Given the description of an element on the screen output the (x, y) to click on. 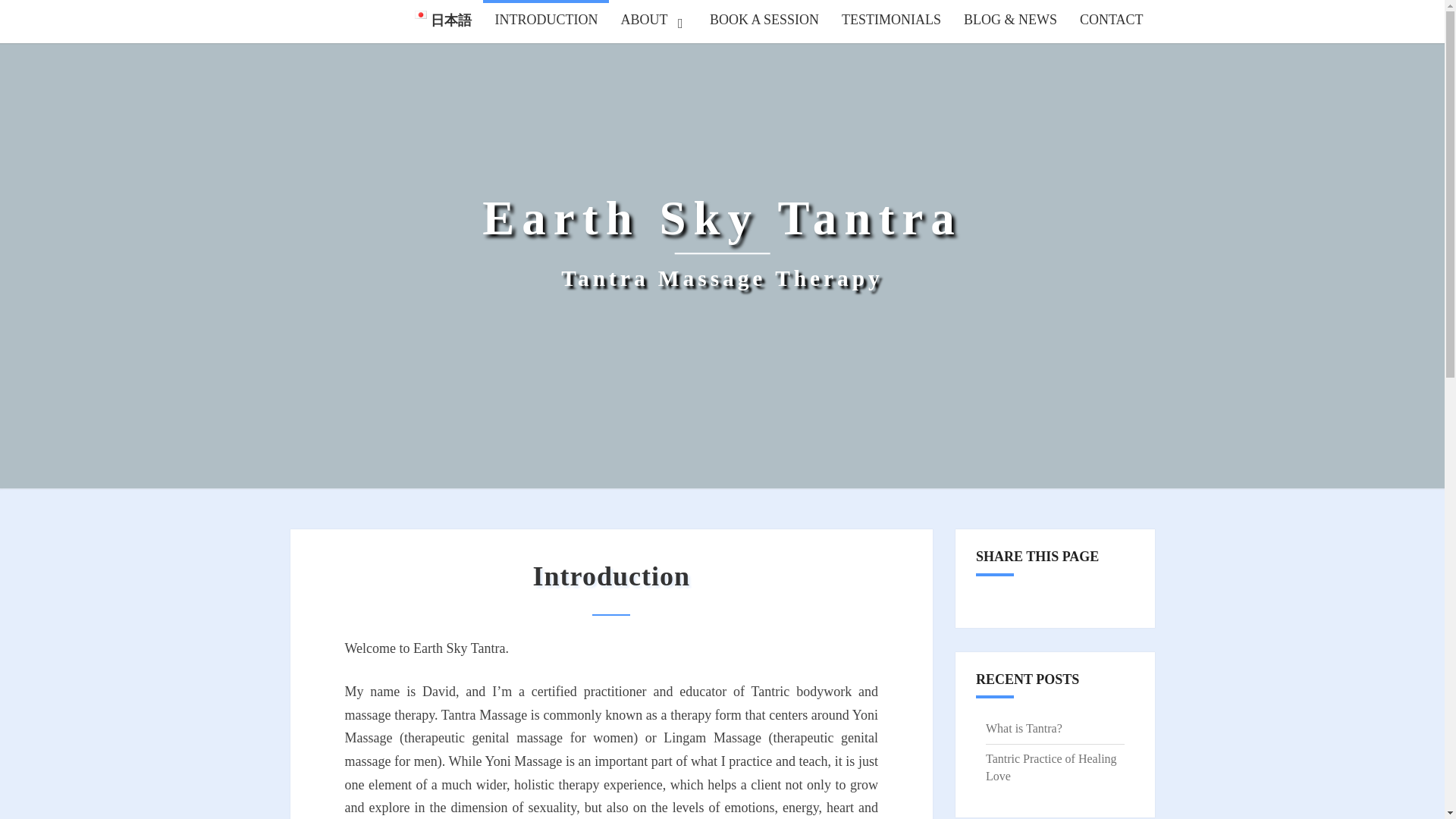
BOOK A SESSION (763, 20)
Earth Sky Tantra (721, 243)
INTRODUCTION (545, 20)
Tantric Practice of Healing Love (721, 243)
TESTIMONIALS (1050, 767)
CONTACT (890, 20)
ABOUT (1111, 20)
What is Tantra? (653, 20)
